Given the description of an element on the screen output the (x, y) to click on. 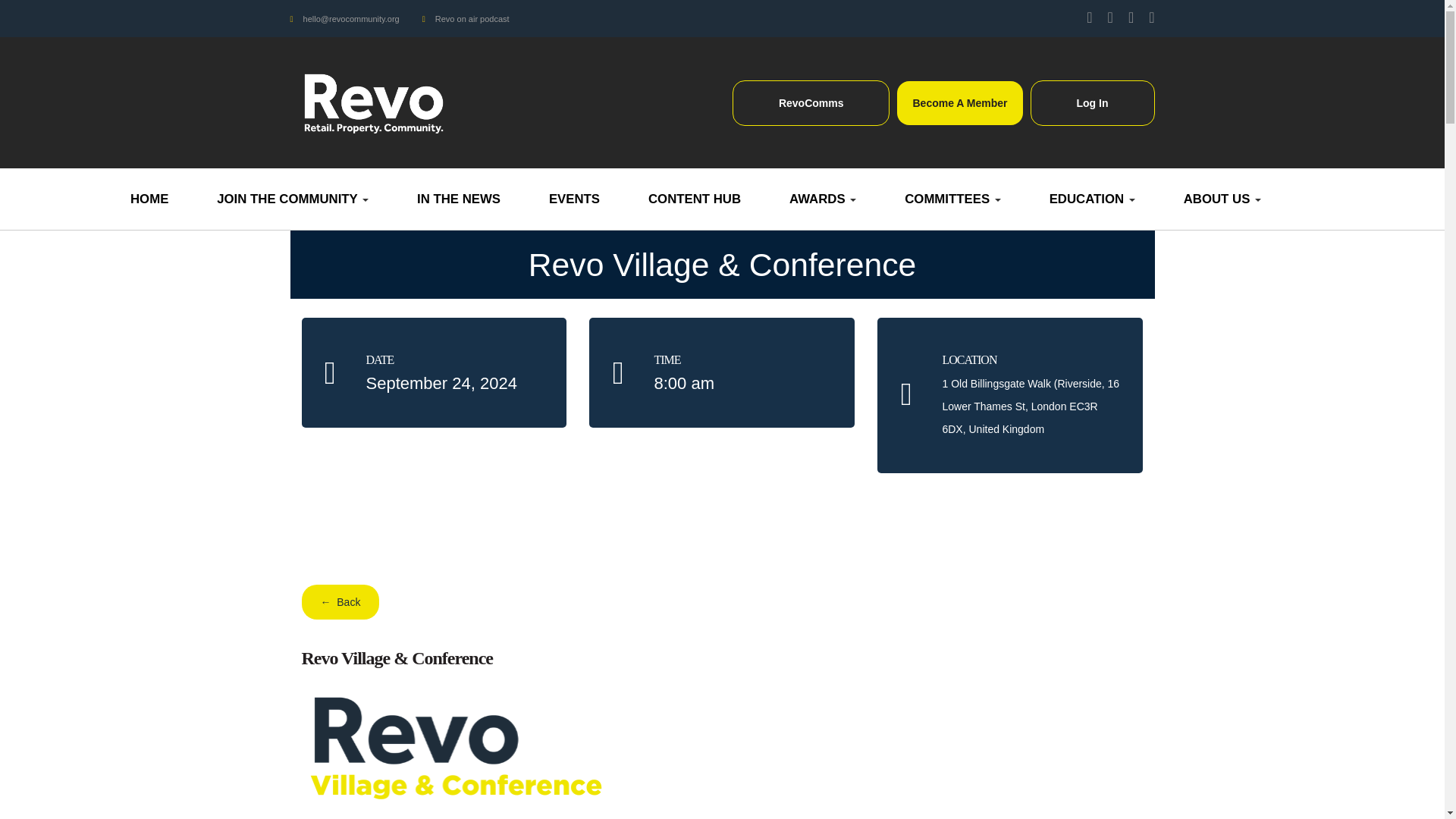
Become A Member (959, 103)
JOIN THE COMMUNITY (292, 198)
AWARDS (822, 198)
RevoComms (810, 103)
HOME (149, 198)
Log In (1091, 103)
CONTENT HUB (694, 198)
Revo on air podcast (472, 17)
EVENTS (573, 198)
IN THE NEWS (458, 198)
